Given the description of an element on the screen output the (x, y) to click on. 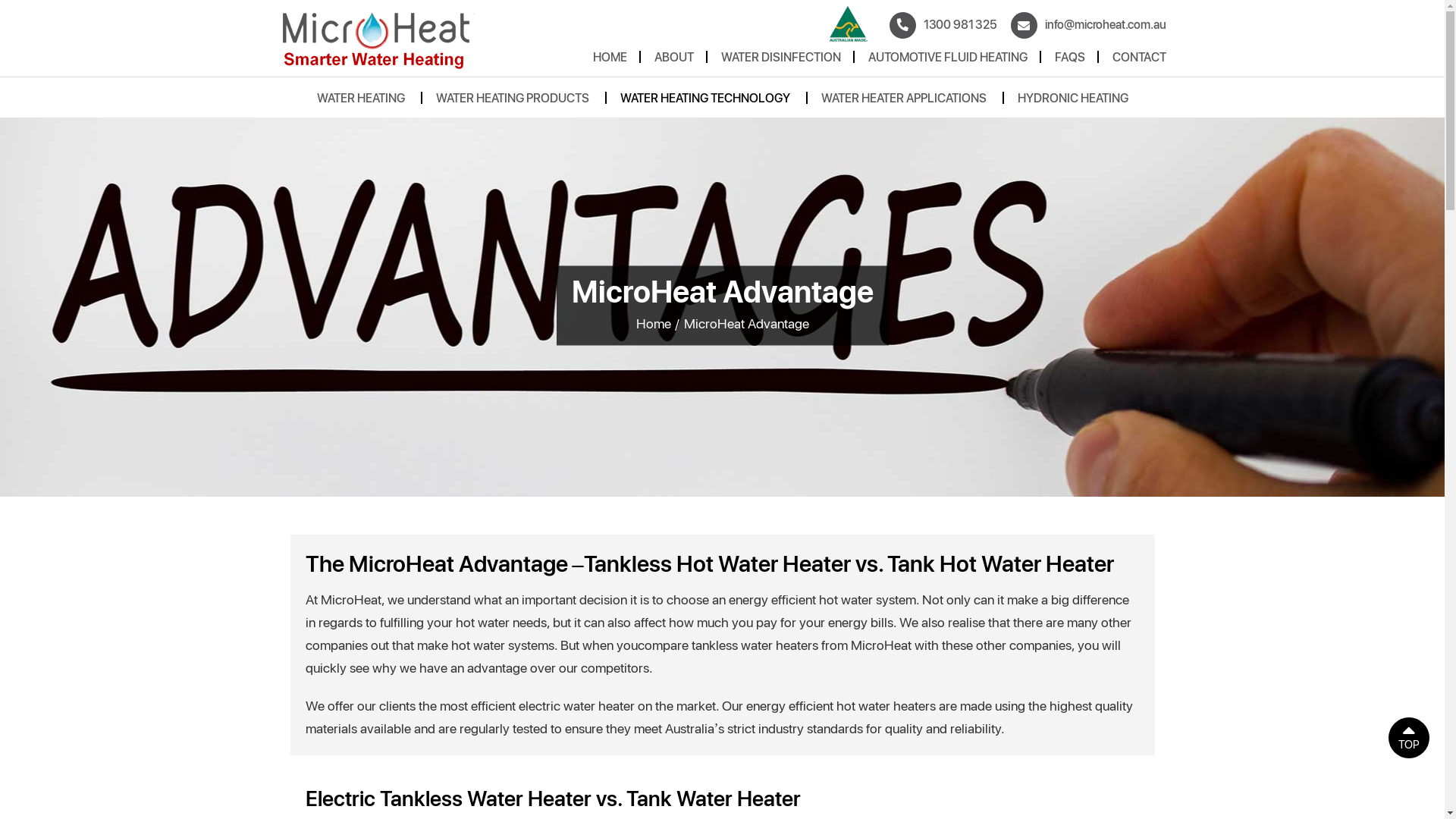
WATER HEATING Element type: text (360, 102)
WATER DISINFECTION Element type: text (780, 61)
Home Element type: text (652, 322)
WATER HEATING PRODUCTS Element type: text (511, 102)
HYDRONIC HEATING Element type: text (1072, 102)
WATER HEATER APPLICATIONS Element type: text (902, 102)
FAQS Element type: text (1069, 61)
1300 981 325 Element type: text (943, 24)
WATER HEATING TECHNOLOGY Element type: text (705, 102)
AUTOMOTIVE FLUID HEATING Element type: text (946, 61)
HOME Element type: text (610, 61)
info@microheat.com.au Element type: text (1088, 24)
ABOUT Element type: text (673, 61)
Australian-designed-and-made Element type: hover (848, 23)
MicroHeat Technologies Pty Ltd Element type: hover (378, 38)
CONTACT Element type: text (1138, 61)
